Given the description of an element on the screen output the (x, y) to click on. 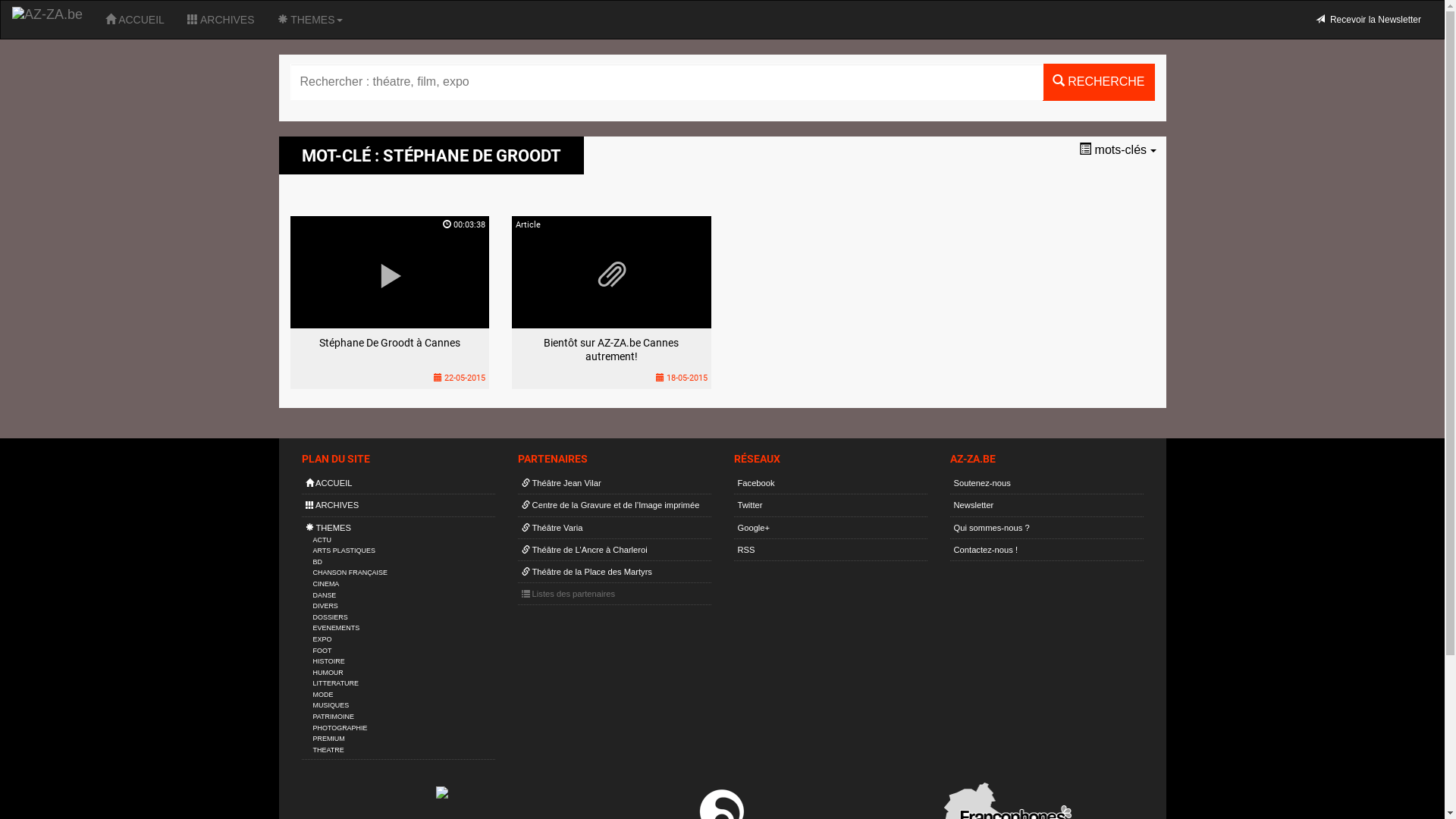
ACCUEIL Element type: text (134, 19)
Listes des partenaires Element type: text (568, 593)
PREMIUM Element type: text (328, 738)
Contactez-nous ! Element type: text (985, 549)
MUSIQUES Element type: text (330, 705)
LITTERATURE Element type: text (335, 683)
Twitter Element type: text (749, 504)
EXPO Element type: text (321, 639)
CINEMA Element type: text (325, 583)
HISTOIRE Element type: text (328, 661)
ACCUEIL Element type: text (327, 482)
THEMES Element type: text (310, 19)
DANSE Element type: text (323, 595)
ACTU Element type: text (321, 539)
RSS Element type: text (745, 549)
FOOT Element type: text (321, 650)
PATRIMOINE Element type: text (332, 716)
Newsletter Element type: text (973, 504)
HUMOUR Element type: text (327, 672)
BD Element type: text (316, 561)
Qui sommes-nous ? Element type: text (991, 527)
DOSSIERS Element type: text (329, 617)
Facebook Element type: text (755, 482)
DIVERS Element type: text (324, 605)
Google+ Element type: text (753, 527)
ARCHIVES Element type: text (331, 504)
PHOTOGRAPHIE Element type: text (339, 727)
Soutenez-nous Element type: text (981, 482)
MODE Element type: text (322, 694)
ARTS PLASTIQUES Element type: text (343, 550)
EVENEMENTS Element type: text (335, 627)
ARCHIVES Element type: text (220, 19)
THEATRE Element type: text (327, 749)
RECHERCHE Element type: text (1098, 81)
  Recevoir la Newsletter Element type: text (1368, 19)
